Given the description of an element on the screen output the (x, y) to click on. 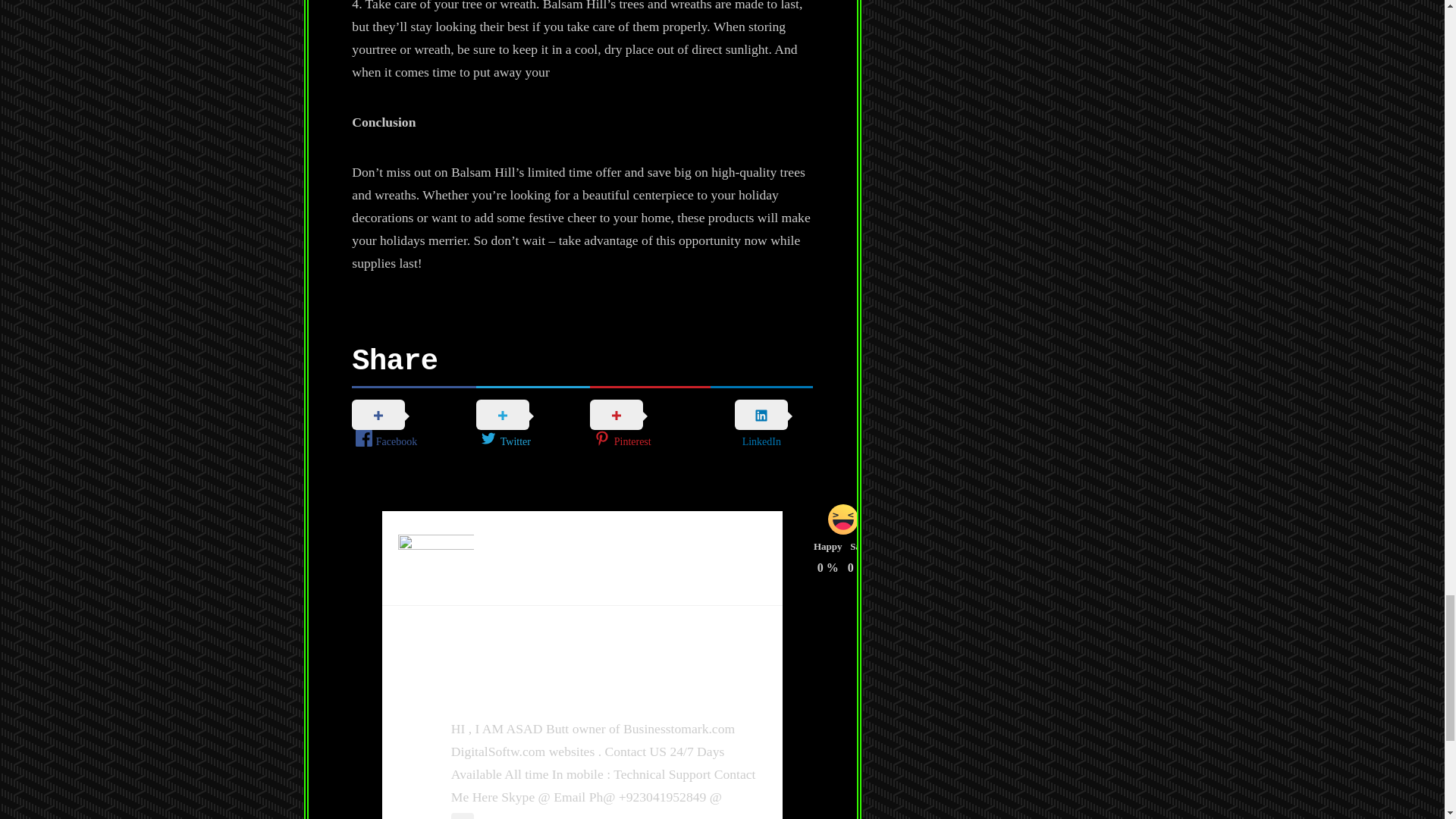
LinkedIn (761, 424)
Pinterest (649, 425)
Facebook (414, 425)
Twitter (532, 425)
asad butt (500, 692)
